Given the description of an element on the screen output the (x, y) to click on. 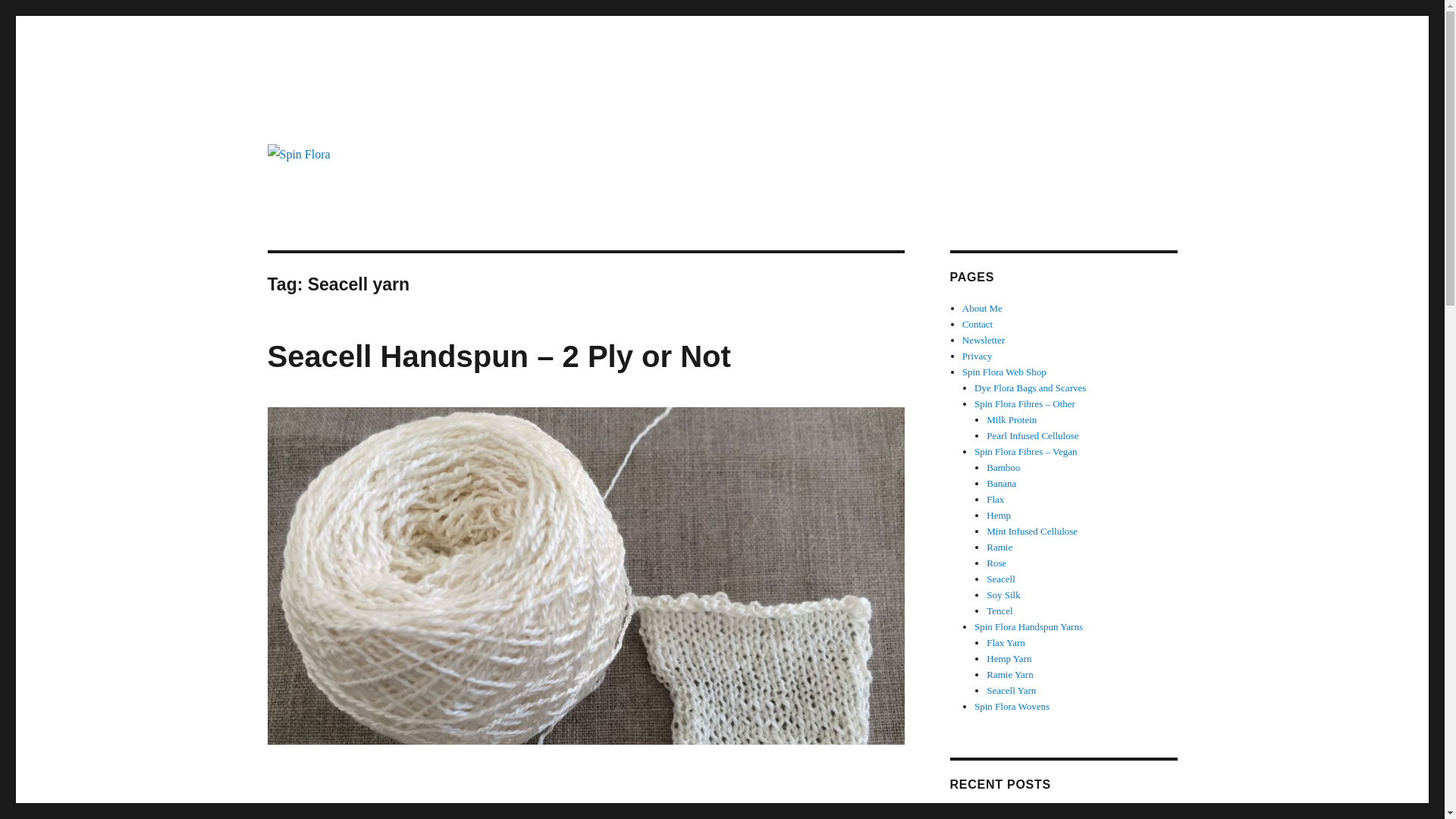
Bamboo (1003, 467)
Spin Flora Web Shop (1004, 371)
Dye Flora Bags and Scarves (1030, 387)
About Me (982, 307)
Newsletter (983, 339)
Privacy (977, 355)
Milk Protein (1011, 419)
Contact (977, 324)
Spin Flora (318, 114)
Pearl Infused Cellulose (1032, 435)
